Given the description of an element on the screen output the (x, y) to click on. 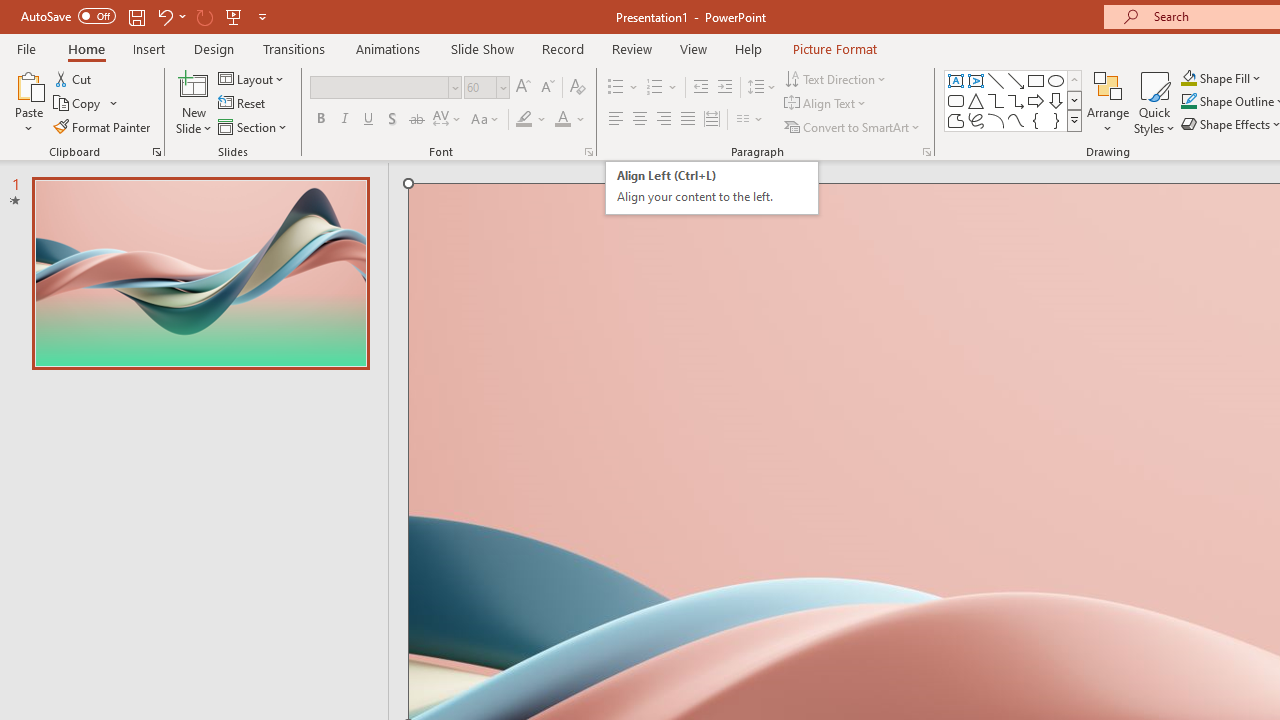
Picture Format (834, 48)
